Given the description of an element on the screen output the (x, y) to click on. 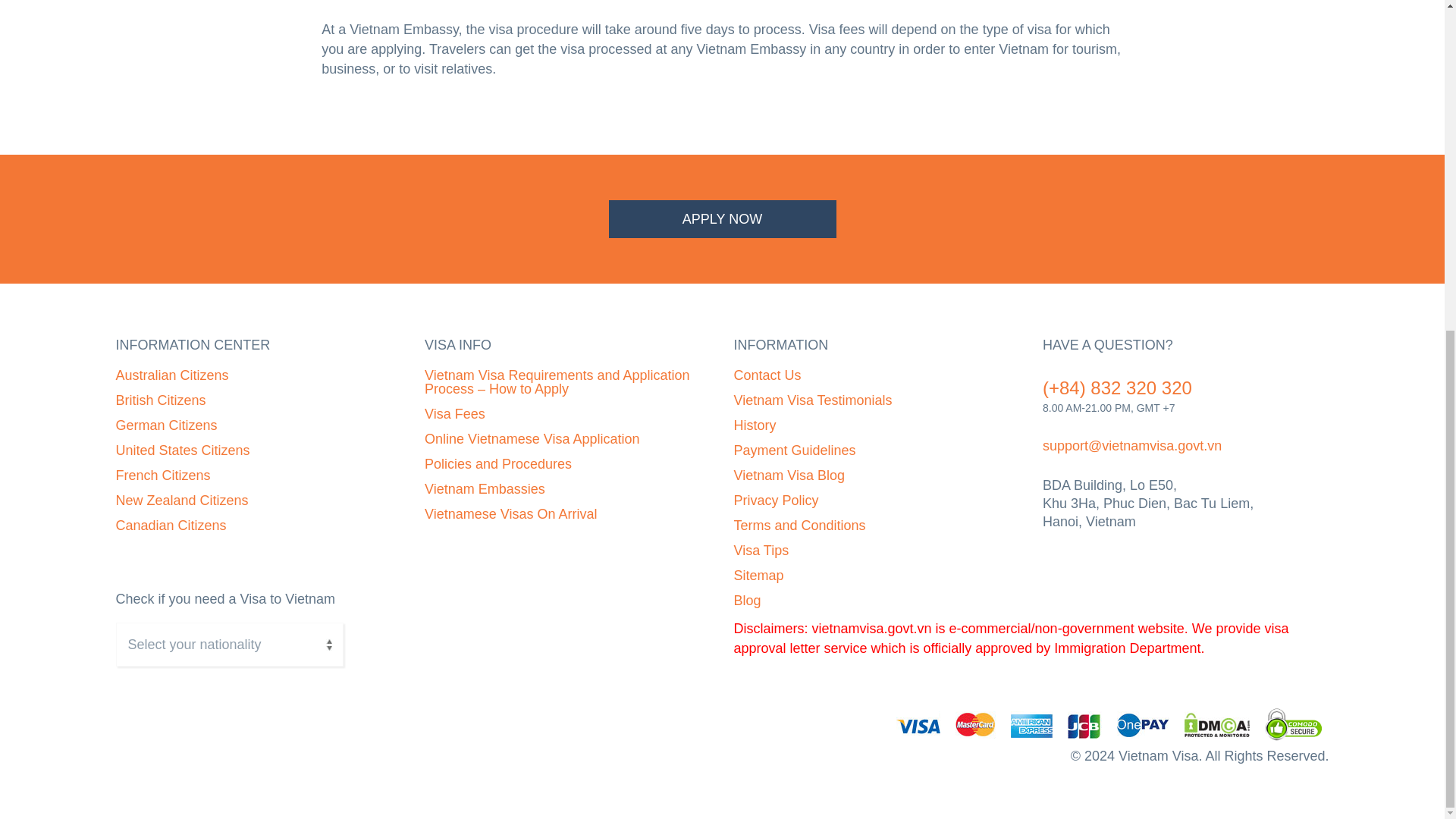
British Citizens (160, 400)
APPLY NOW (721, 218)
Australian Citizens (171, 375)
French Citizens (162, 475)
Email us (1131, 445)
Canadian Citizens (170, 525)
New Zealand Citizens (181, 500)
German Citizens (165, 425)
Visa Fees (454, 413)
United States Citizens (181, 450)
